Given the description of an element on the screen output the (x, y) to click on. 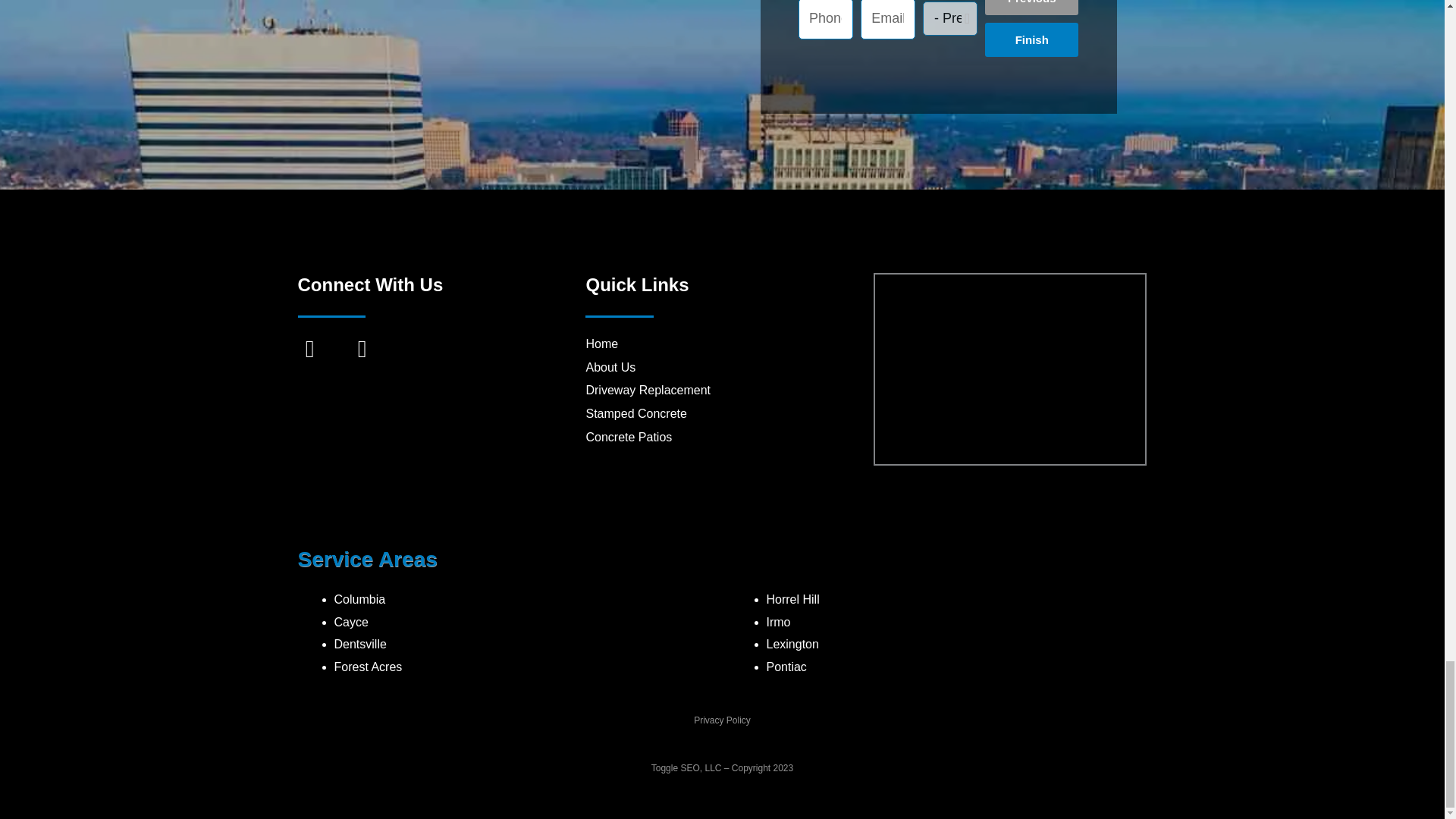
Columbia, South Carolina (1009, 369)
